Given the description of an element on the screen output the (x, y) to click on. 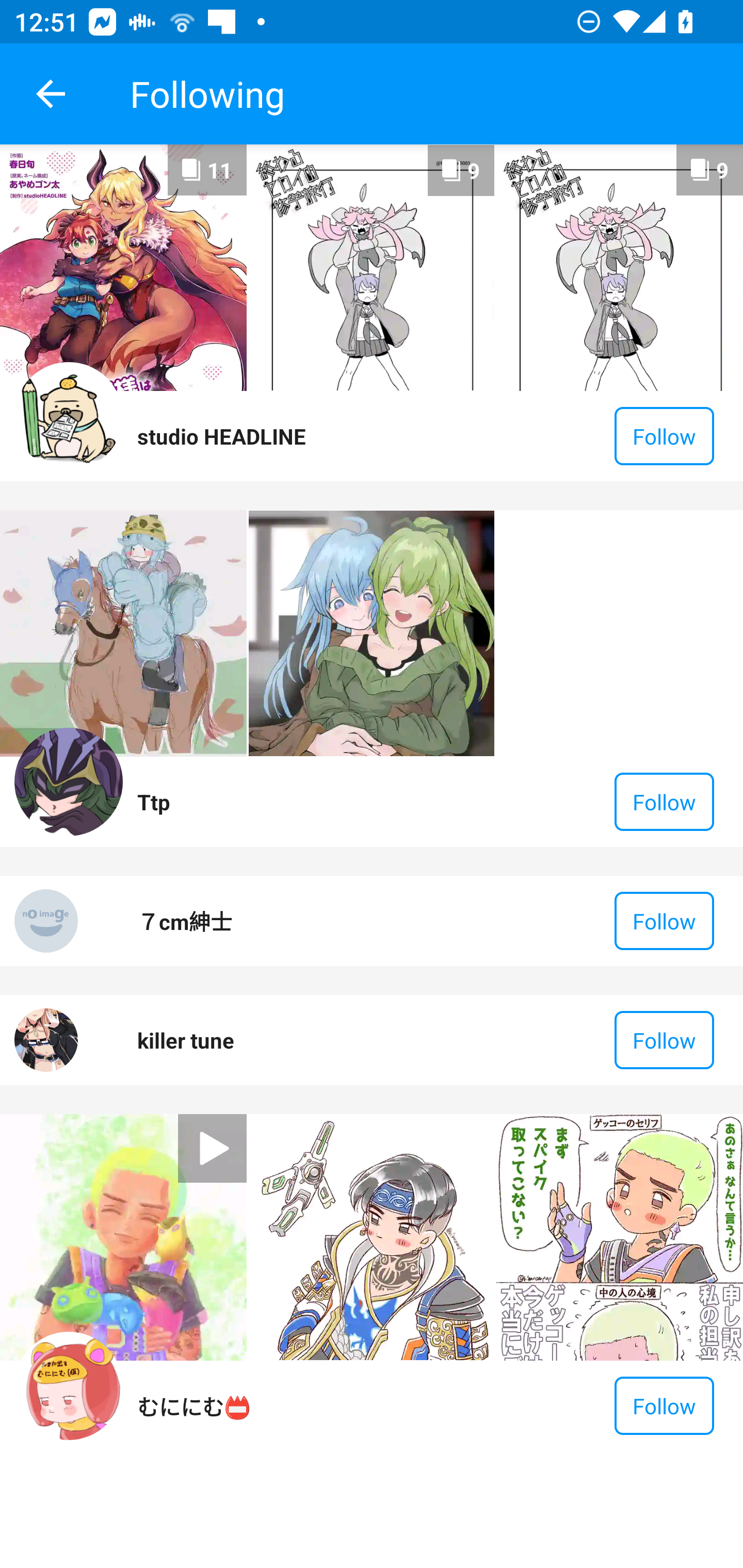
Navigate up (50, 93)
11 (123, 267)
9 (619, 267)
9 (371, 267)
studio HEADLINE (221, 436)
Follow (664, 436)
Ttp (153, 802)
Follow (664, 802)
７cm紳士 (184, 920)
Follow (664, 921)
killer tune (185, 1040)
Follow (664, 1040)
むににむ📛 (193, 1405)
Follow (664, 1405)
